Given the description of an element on the screen output the (x, y) to click on. 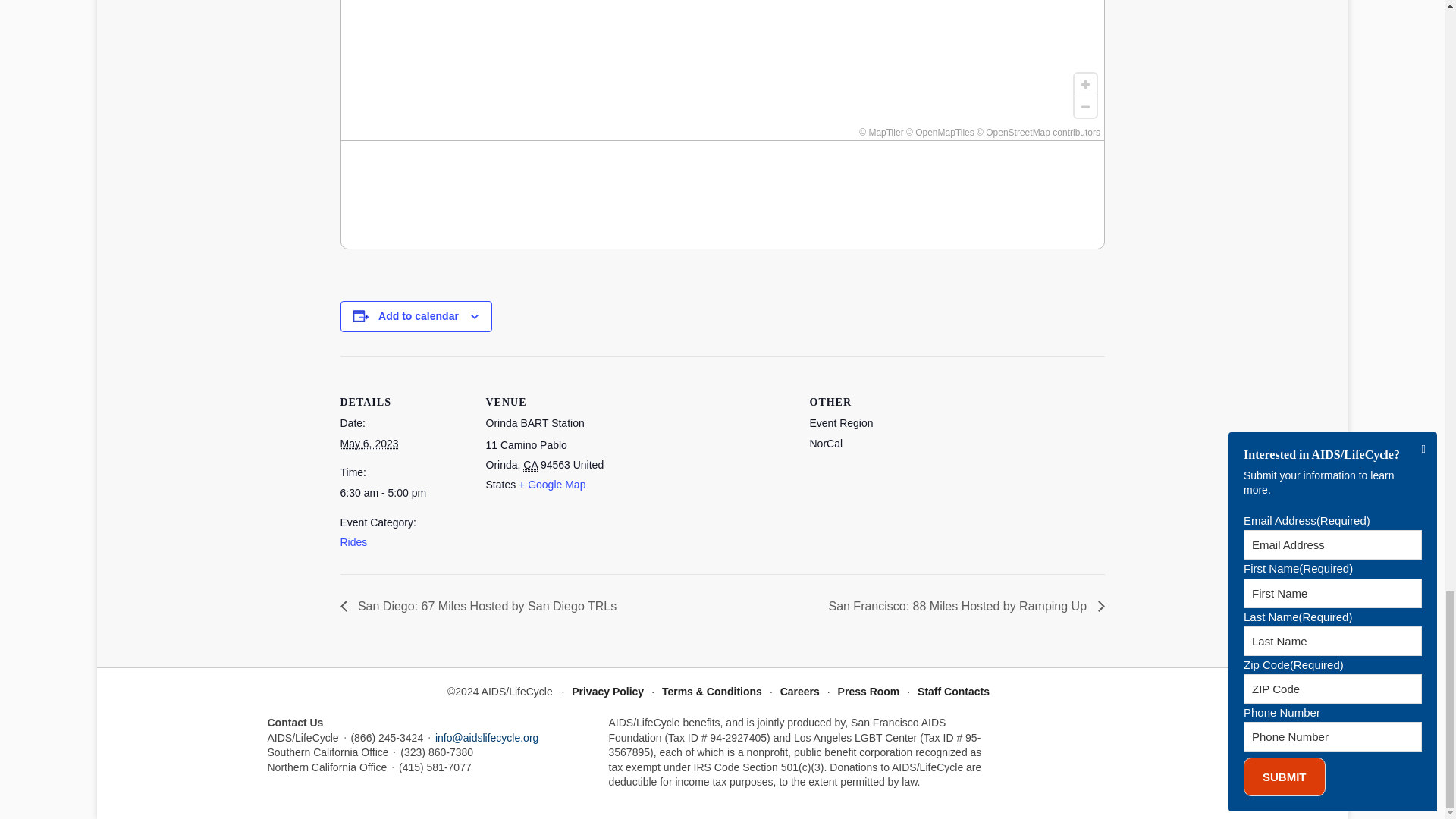
California (529, 464)
2023-05-06 (403, 493)
2023-05-06 (368, 443)
Click to view a Google Map (551, 484)
